Given the description of an element on the screen output the (x, y) to click on. 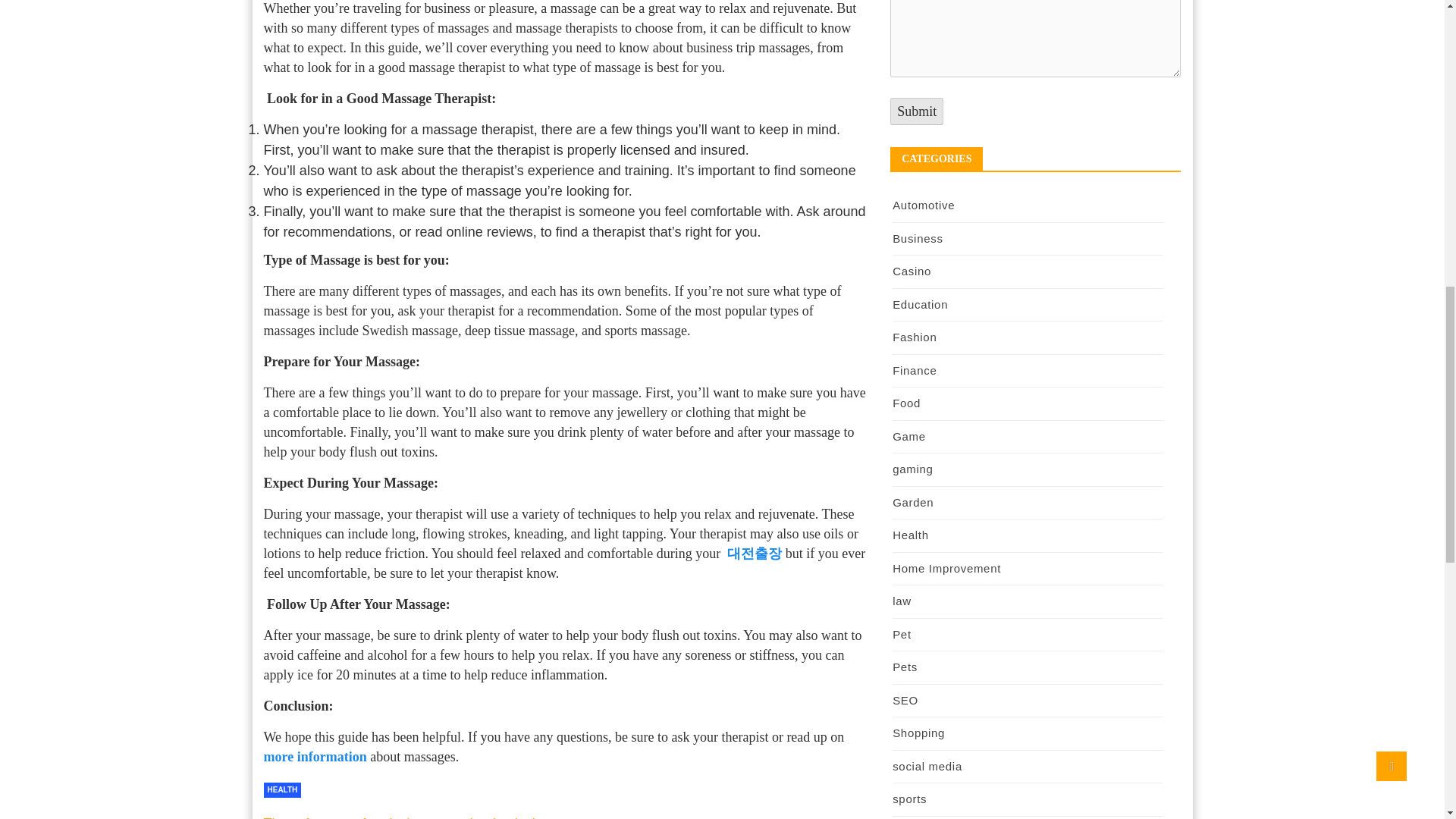
more information (314, 756)
Business (917, 237)
Submit (916, 111)
The safest area for playing sports betting is the Toto site (405, 817)
Automotive (923, 205)
HEALTH (282, 789)
Submit (916, 111)
